Given the description of an element on the screen output the (x, y) to click on. 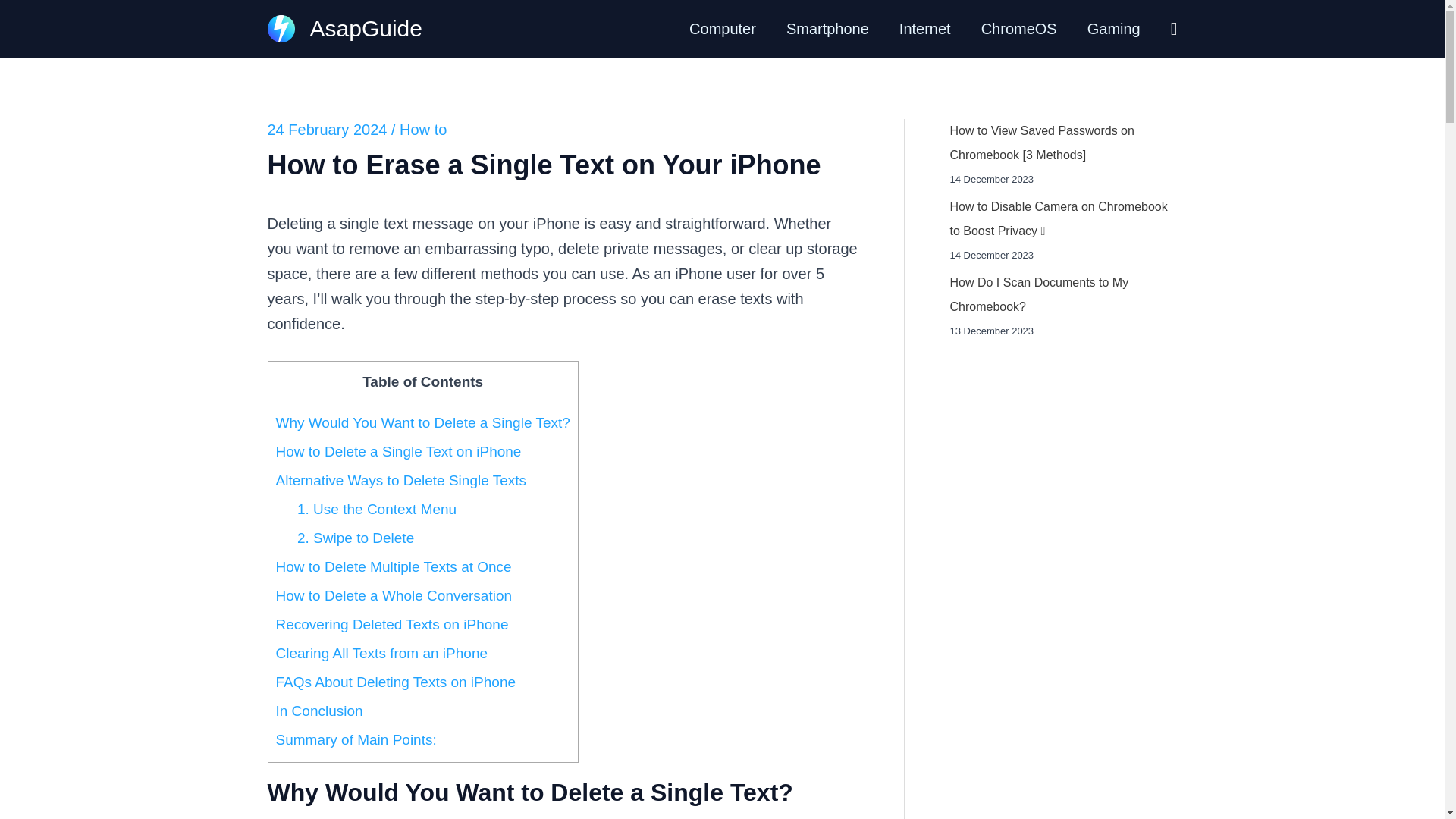
Gaming (1113, 28)
Smartphone (827, 28)
Computer (722, 28)
2. Swipe to Delete (355, 537)
FAQs About Deleting Texts on iPhone (396, 682)
Recovering Deleted Texts on iPhone (392, 624)
In Conclusion (319, 710)
Internet (924, 28)
How to (422, 129)
Clearing All Texts from an iPhone (381, 652)
